Given the description of an element on the screen output the (x, y) to click on. 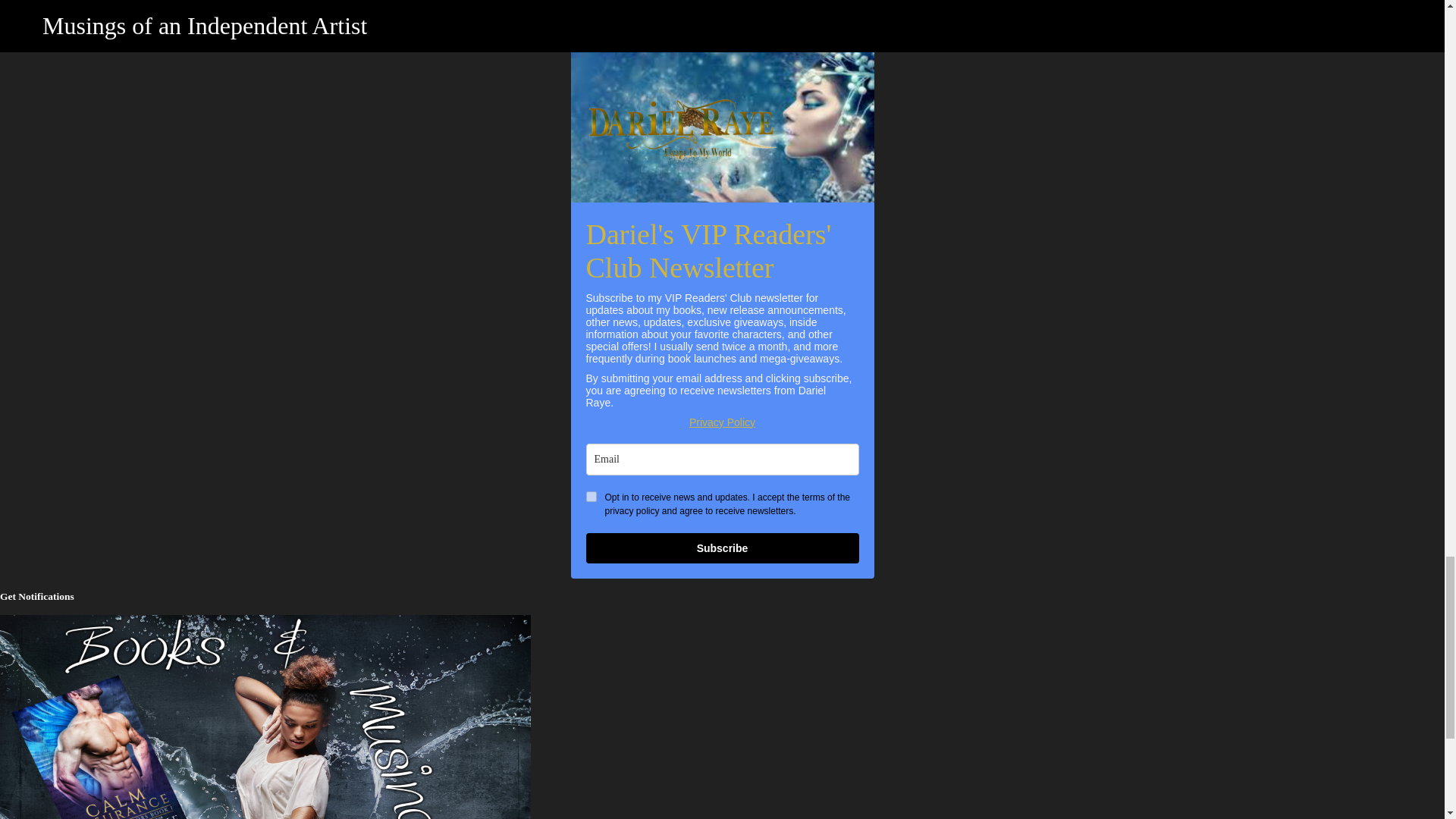
on (590, 496)
